Given the description of an element on the screen output the (x, y) to click on. 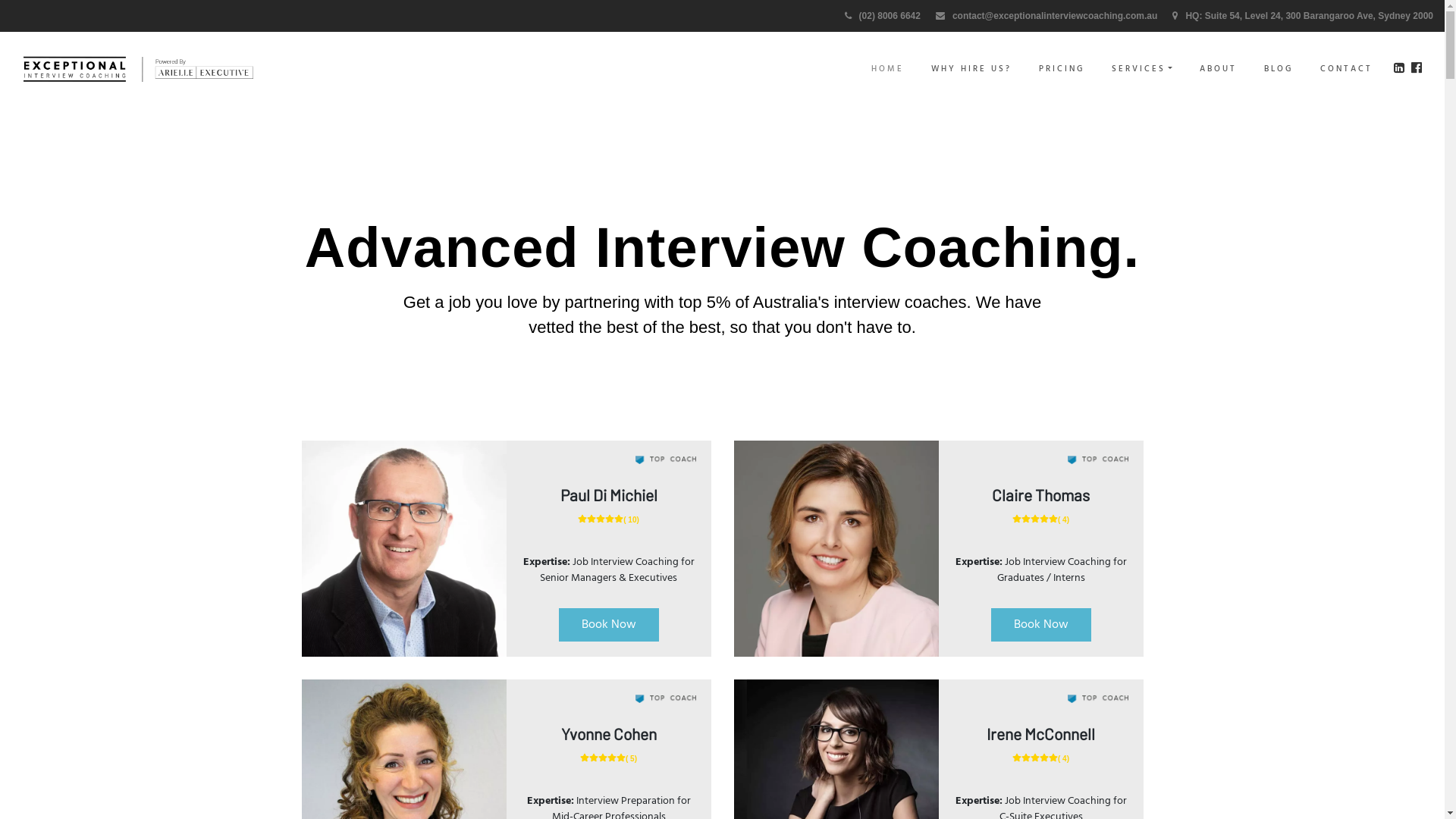
SERVICES Element type: text (1141, 68)
PRICING Element type: text (1061, 68)
HOME Element type: text (887, 68)
CONTACT Element type: text (1346, 68)
WHY HIRE US? Element type: text (971, 68)
ABOUT Element type: text (1217, 68)
(02) 8006 6642 Element type: text (882, 15)
Book Now Element type: text (608, 624)
contact@exceptionalinterviewcoaching.com.au Element type: text (1046, 15)
Book Now Element type: text (1040, 624)
BLOG Element type: text (1278, 68)
